Given the description of an element on the screen output the (x, y) to click on. 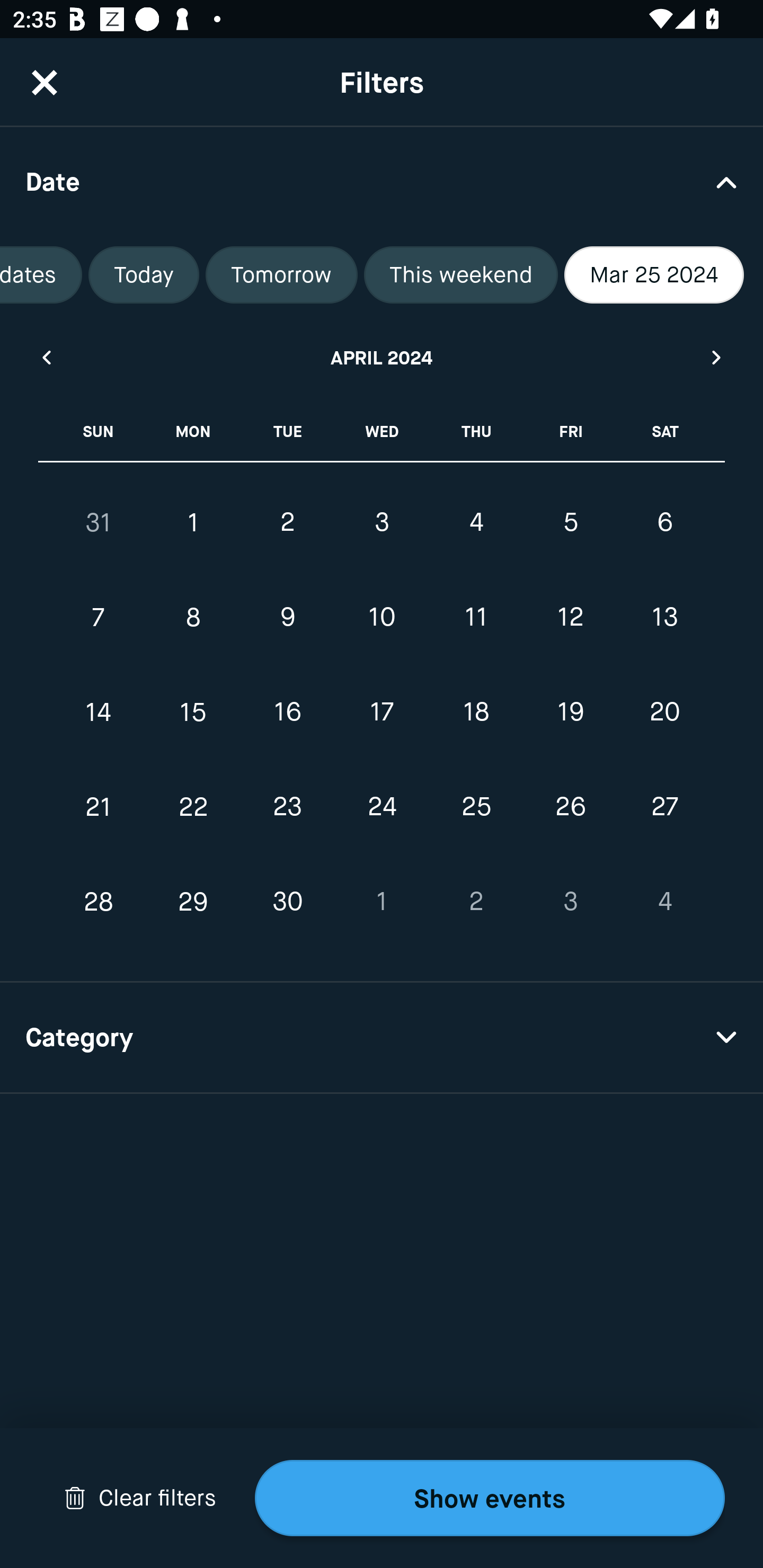
CloseButton (44, 82)
Date Drop Down Arrow (381, 181)
Today (143, 274)
Tomorrow (281, 274)
This weekend (460, 274)
Mar 25 2024 (653, 274)
Previous (45, 357)
Next (717, 357)
31 (98, 522)
1 (192, 522)
2 (287, 522)
3 (381, 522)
4 (475, 522)
5 (570, 522)
6 (664, 522)
7 (98, 617)
8 (192, 617)
9 (287, 617)
10 (381, 617)
11 (475, 617)
12 (570, 617)
13 (664, 617)
14 (98, 711)
15 (192, 711)
16 (287, 711)
17 (381, 711)
18 (475, 711)
19 (570, 711)
20 (664, 711)
21 (98, 806)
22 (192, 806)
23 (287, 806)
24 (381, 806)
25 (475, 806)
26 (570, 806)
27 (664, 806)
28 (98, 901)
29 (192, 901)
30 (287, 901)
1 (381, 901)
2 (475, 901)
3 (570, 901)
4 (664, 901)
Category Drop Down Arrow (381, 1038)
Drop Down Arrow Clear filters (139, 1497)
Show events (489, 1497)
